Given the description of an element on the screen output the (x, y) to click on. 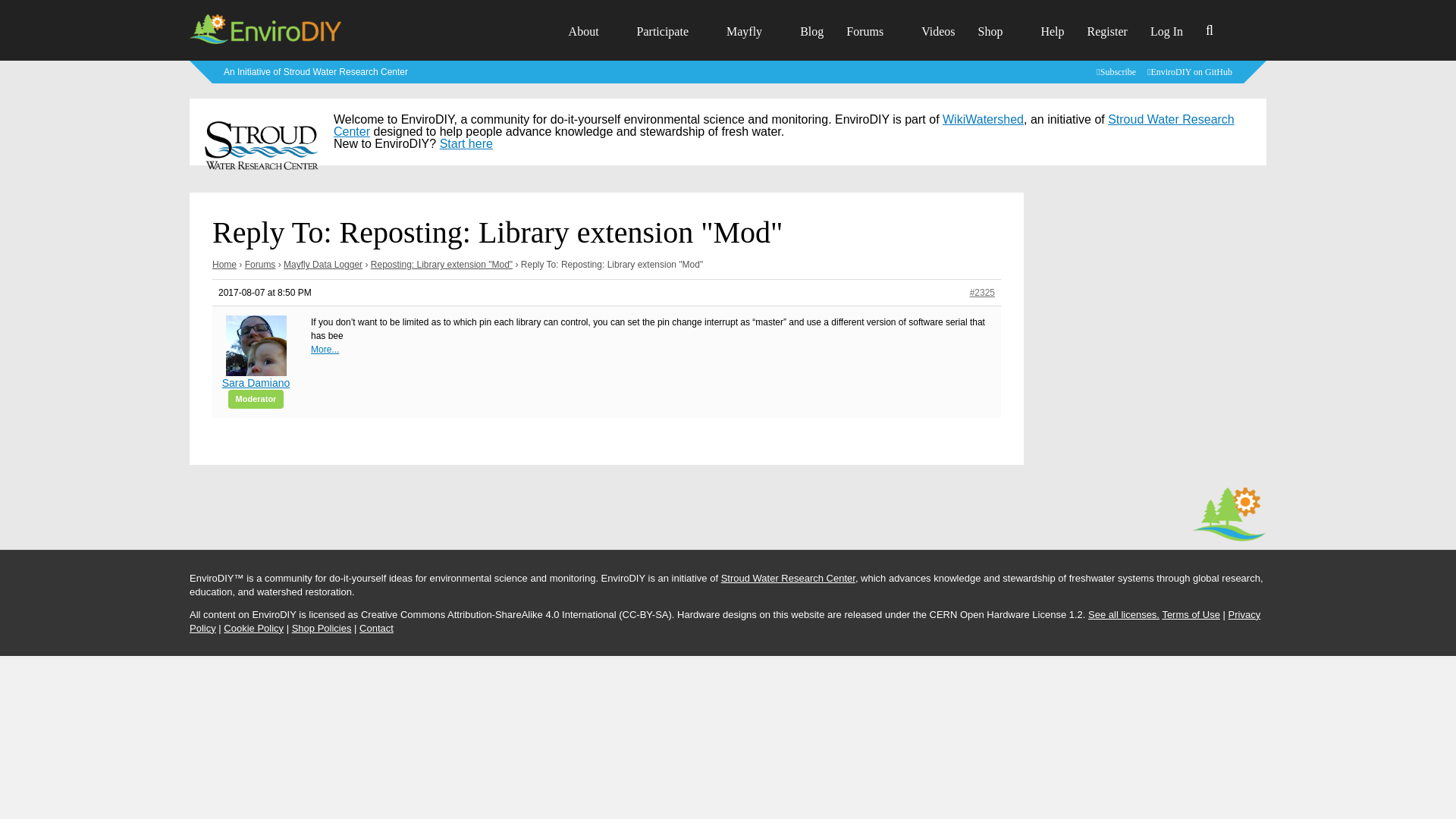
EnviroDIY on GitHub (1190, 71)
EnviroDIY (264, 42)
Learn more (315, 71)
View Sara Damiano's profile (255, 359)
